Given the description of an element on the screen output the (x, y) to click on. 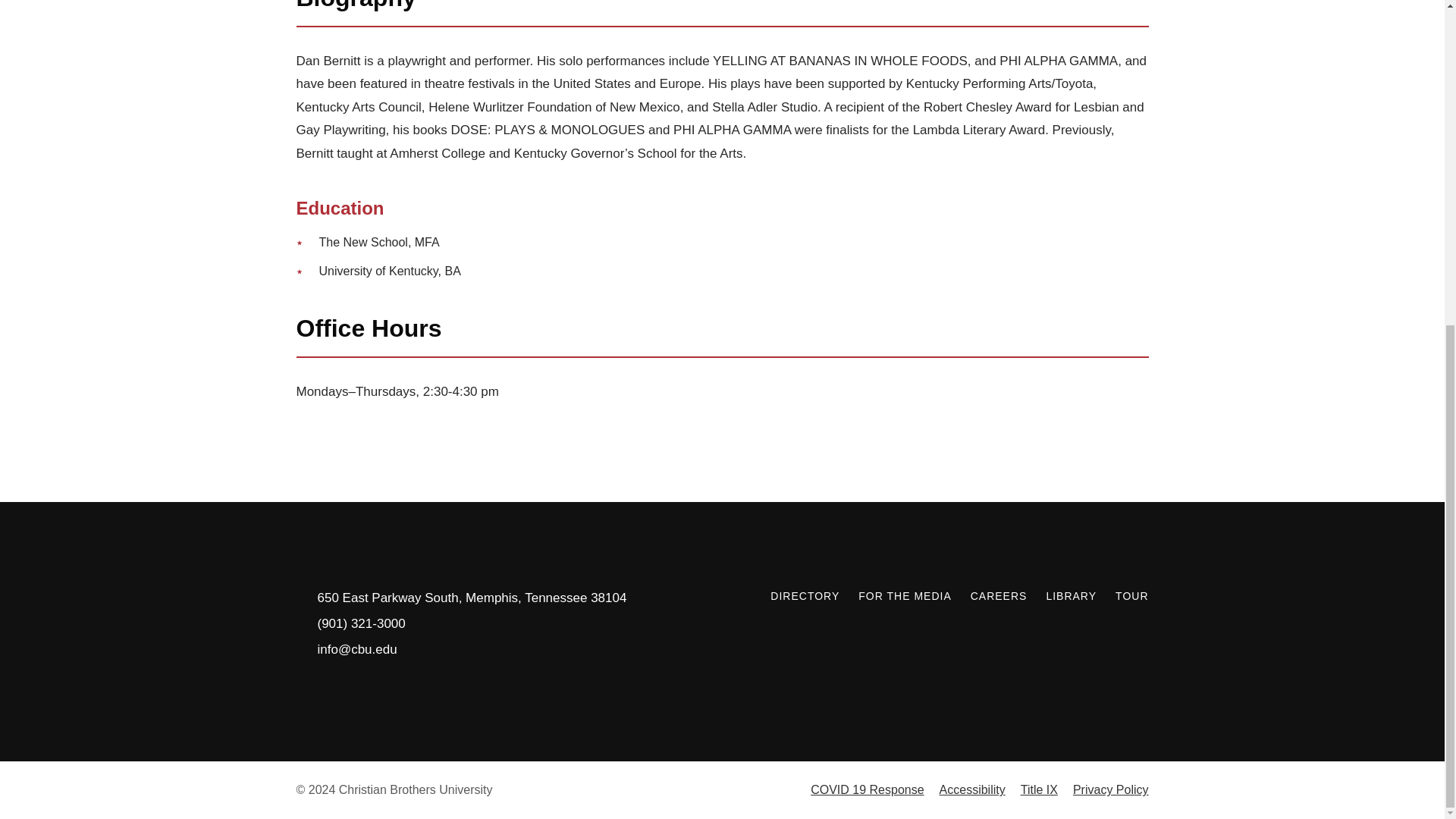
CBU on Facebook (1064, 631)
CBU on Instagram (1102, 631)
CBU on Twitter (1027, 631)
CBU on YouTube (1138, 631)
